Given the description of an element on the screen output the (x, y) to click on. 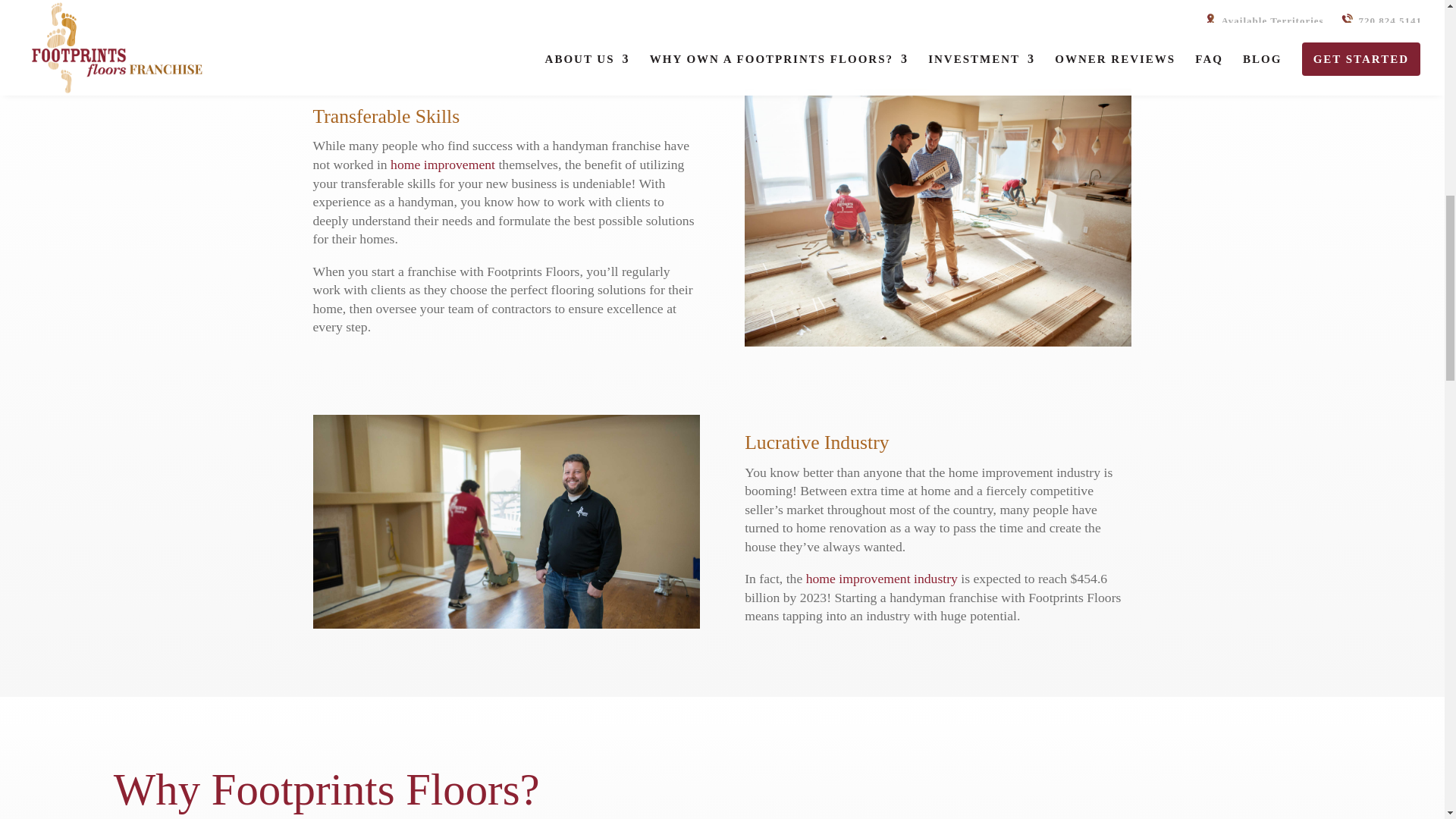
home improvement industry (882, 578)
home improvement (442, 164)
Franchise Opportunities in Home Improvement  (882, 578)
Home Improvement Franchise Near You (442, 164)
